Given the description of an element on the screen output the (x, y) to click on. 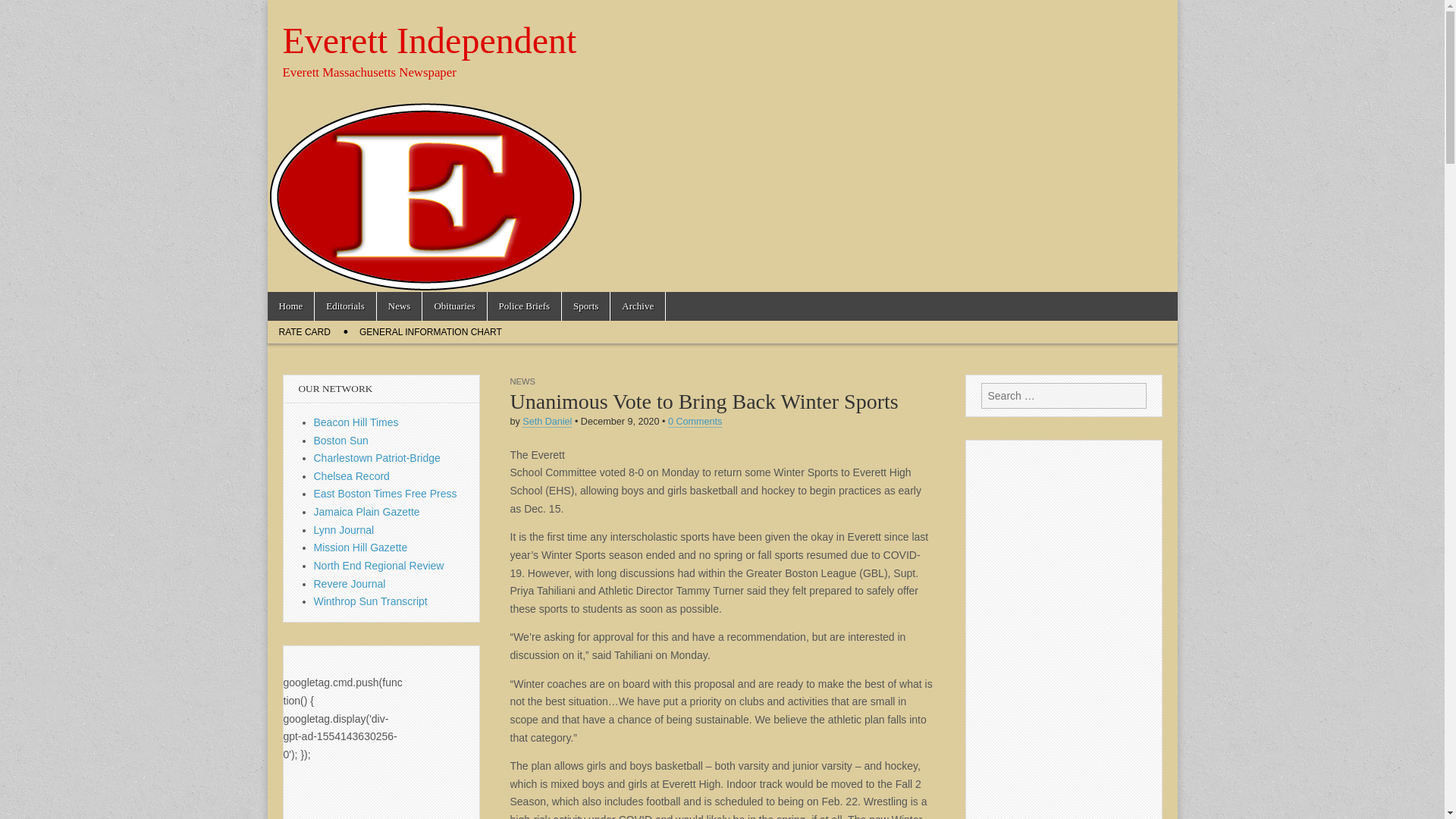
North End Regional Review (379, 565)
Everett Independent (429, 40)
Charlestown Patriot-Bridge (377, 458)
Revere Journal (349, 583)
Obituaries (454, 306)
RATE CARD (303, 332)
Editorials (344, 306)
Mission Hill Gazette (360, 547)
News (399, 306)
Beacon Hill Times (356, 422)
NEWS (522, 380)
Sports (586, 306)
Archive (637, 306)
